Given the description of an element on the screen output the (x, y) to click on. 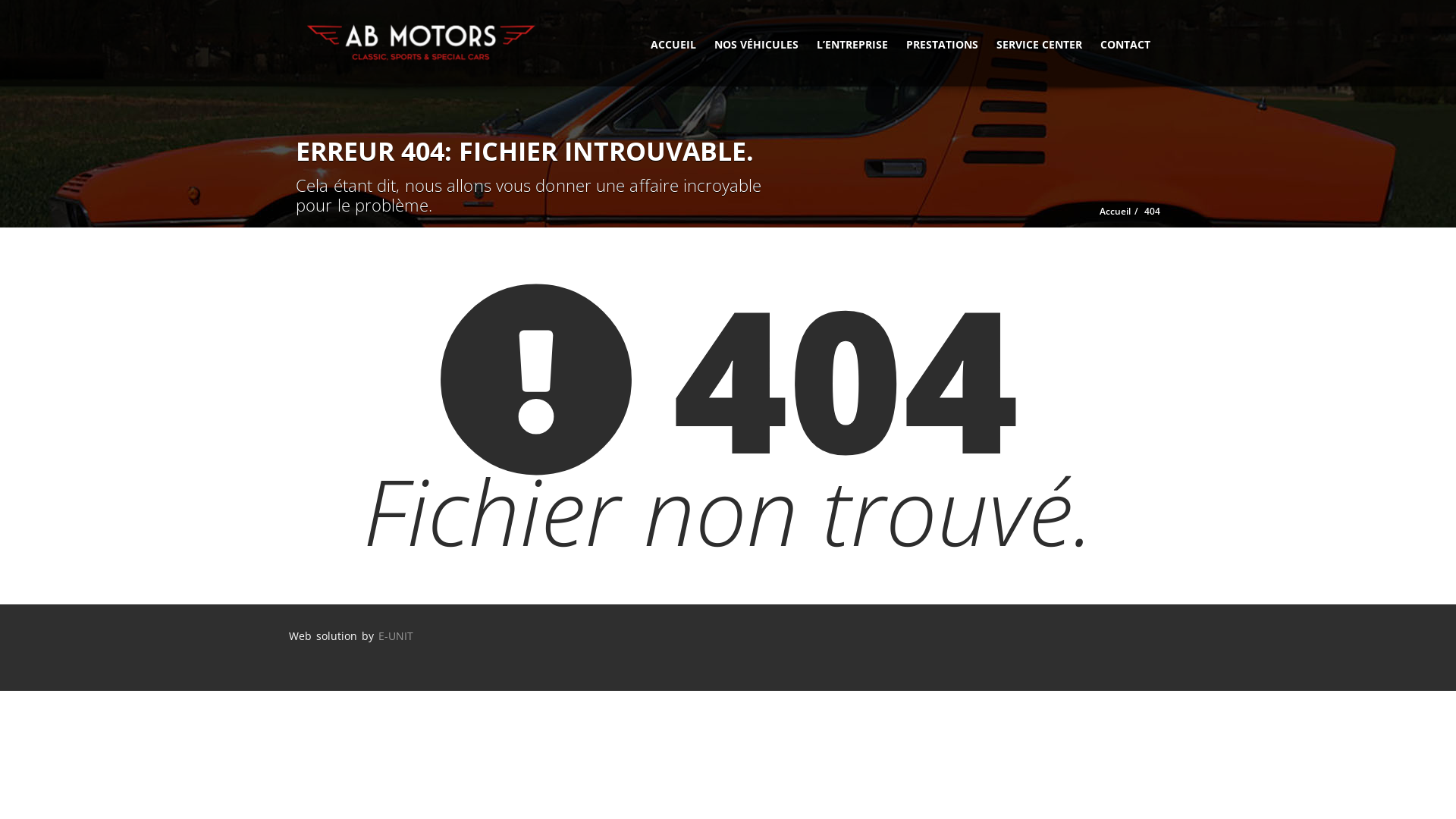
SERVICE CENTER Element type: text (1039, 43)
CONTACT Element type: text (1125, 43)
E-UNIT Element type: text (394, 635)
PRESTATIONS Element type: text (942, 43)
Accueil Element type: text (1114, 210)
ACCUEIL Element type: text (673, 43)
